Given the description of an element on the screen output the (x, y) to click on. 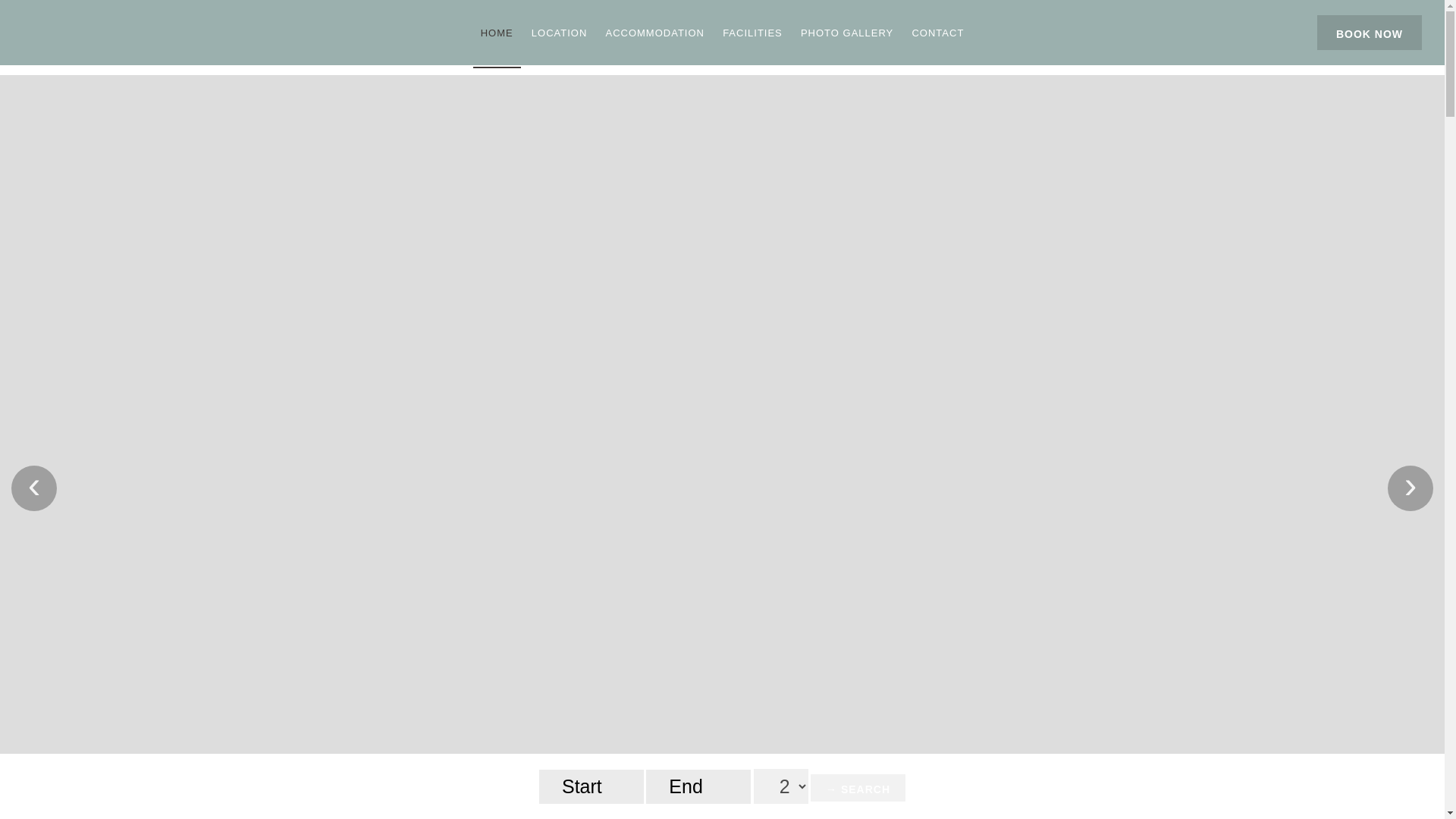
Persons (781, 786)
Deutsch (1228, 31)
Start (590, 786)
LOCATION (559, 33)
End (698, 786)
Italiano (1270, 31)
BOOK NOW (1369, 32)
HOME (497, 33)
CONTACT (937, 33)
FACILITIES (752, 33)
ACCOMMODATION (653, 33)
English (1184, 31)
PHOTO GALLERY (847, 33)
